Given the description of an element on the screen output the (x, y) to click on. 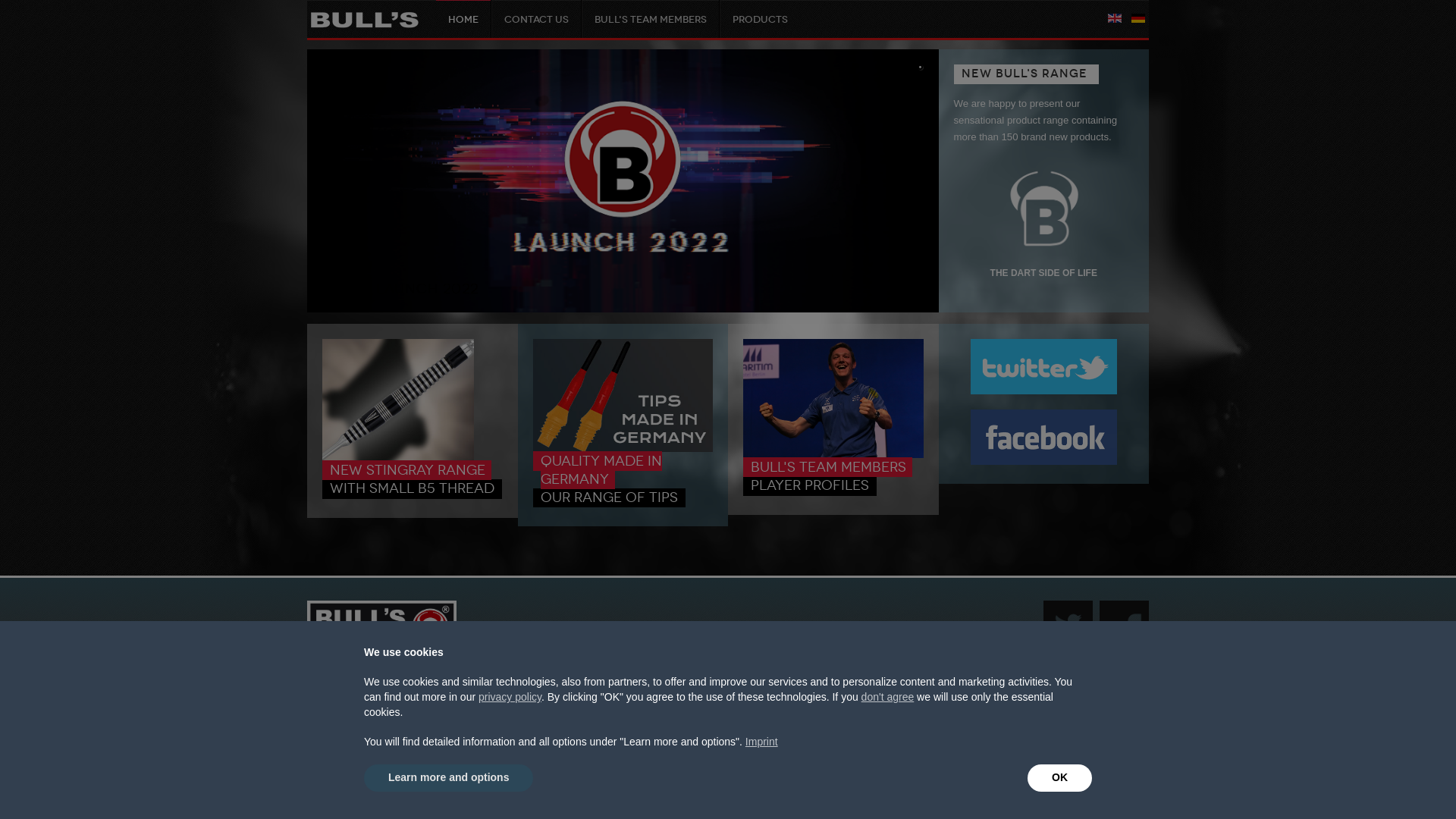
Deutsch Element type: hover (1138, 17)
Soft Tips Element type: hover (622, 448)
Imprint Element type: text (761, 741)
QUALITY MADE IN GERMANY Element type: text (600, 470)
don't agree Element type: text (887, 696)
NEW STINGRAY RANGE Element type: text (407, 470)
Imprint Element type: text (605, 691)
PLAYER PROFILES Element type: text (809, 485)
CONTACT US Element type: text (536, 18)
BULL'S on Twitter Element type: hover (1067, 624)
Terms of Use Element type: text (700, 691)
OUR RANGE OF TIPS Element type: text (608, 497)
Embassy Sporthandel GmbH Germany Element type: text (497, 691)
Singray B5 Darts Element type: hover (397, 457)
Privacy Element type: text (647, 691)
BULL'S TEAM MEMBERS Element type: text (650, 18)
Embassy Sports Corporate Website Element type: text (806, 691)
BULL'S Darts Logo Element type: hover (381, 627)
HOME Element type: text (463, 18)
BULL'S Team Element type: hover (833, 454)
English (UK) Element type: hover (1114, 17)
Bulls on Facebook Element type: hover (1123, 646)
BULL'S Darts on Twitter Element type: hover (1043, 390)
Learn more and options Element type: text (448, 777)
BULL'S Darts on Twitter Element type: hover (1043, 366)
OK Element type: text (1059, 777)
PRODUCTS Element type: text (760, 18)
WITH SMALL B5 THREAD Element type: text (412, 488)
BULL'S Darts on facebook Element type: hover (1043, 436)
BULL'S Darts on facebook Element type: hover (1043, 436)
BULL'S on twitter Element type: hover (1067, 646)
privacy policy Element type: text (509, 696)
BULL'S TEAM MEMBERS Element type: text (828, 466)
